Given the description of an element on the screen output the (x, y) to click on. 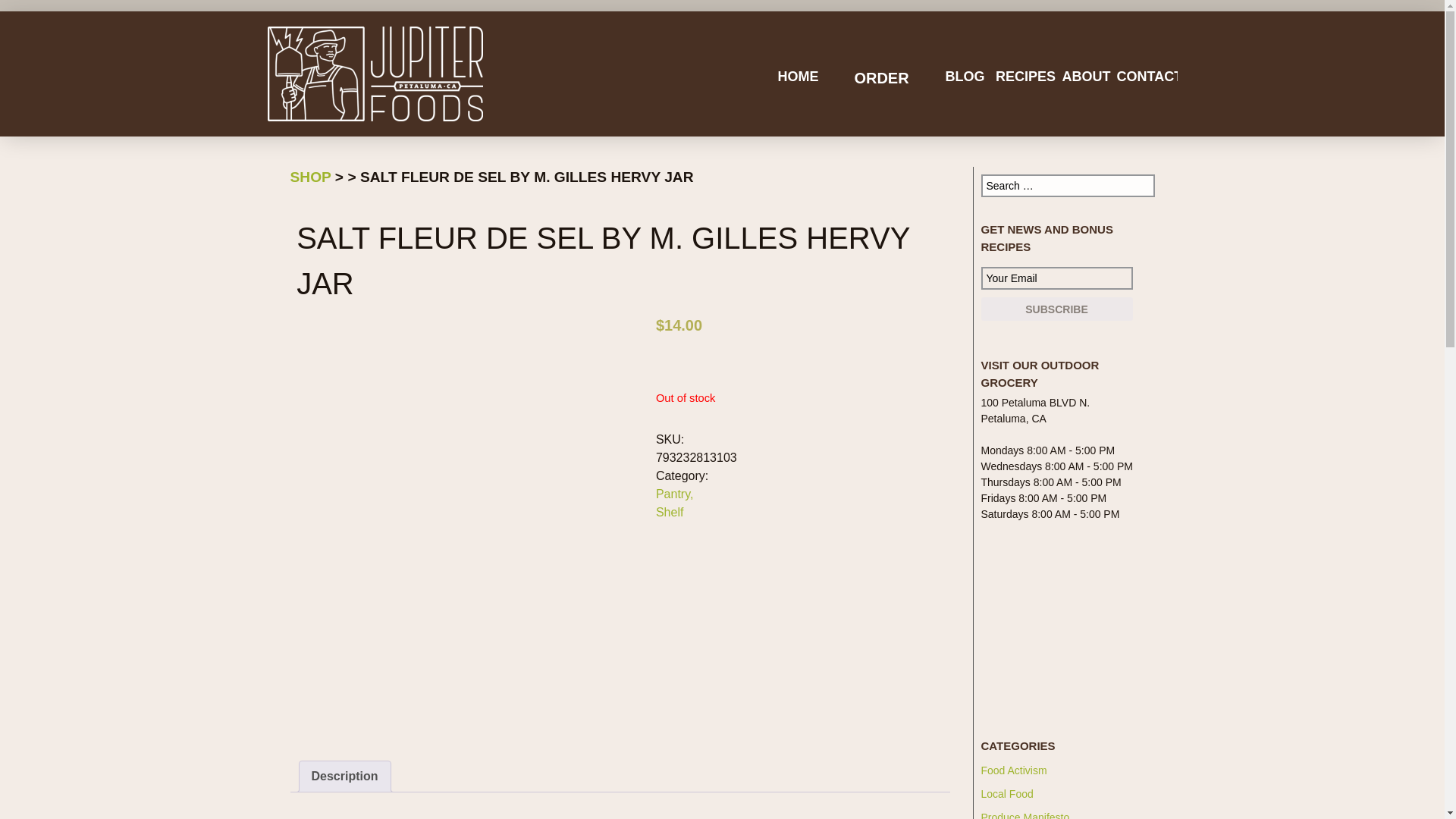
Produce Manifesto (1025, 815)
ABOUT (1085, 76)
Pantry, Shelf (675, 502)
ORDER ONLINE! (881, 87)
RECIPES (1024, 76)
Description (344, 776)
Subscribe (1056, 309)
Search (31, 9)
SHOP (309, 176)
